Given the description of an element on the screen output the (x, y) to click on. 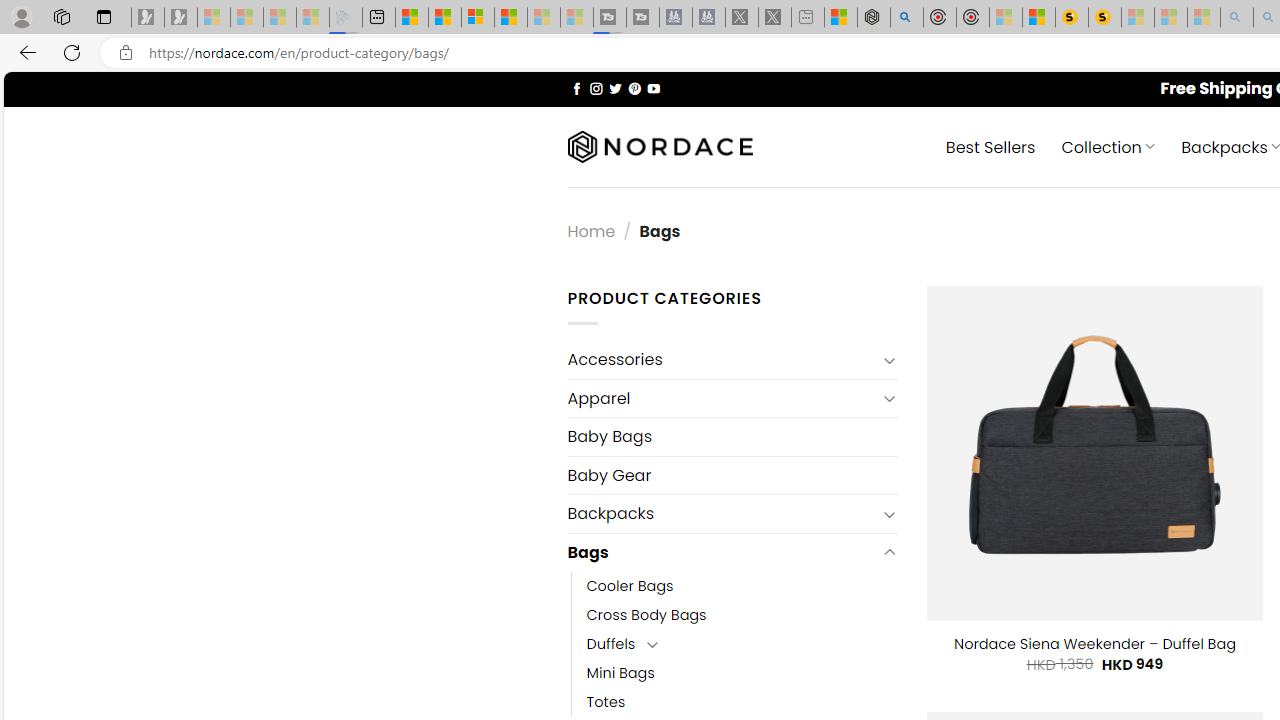
Baby Gear (732, 475)
Follow on YouTube (653, 88)
Cross Body Bags (742, 614)
Newsletter Sign Up - Sleeping (181, 17)
Cooler Bags (630, 585)
